Given the description of an element on the screen output the (x, y) to click on. 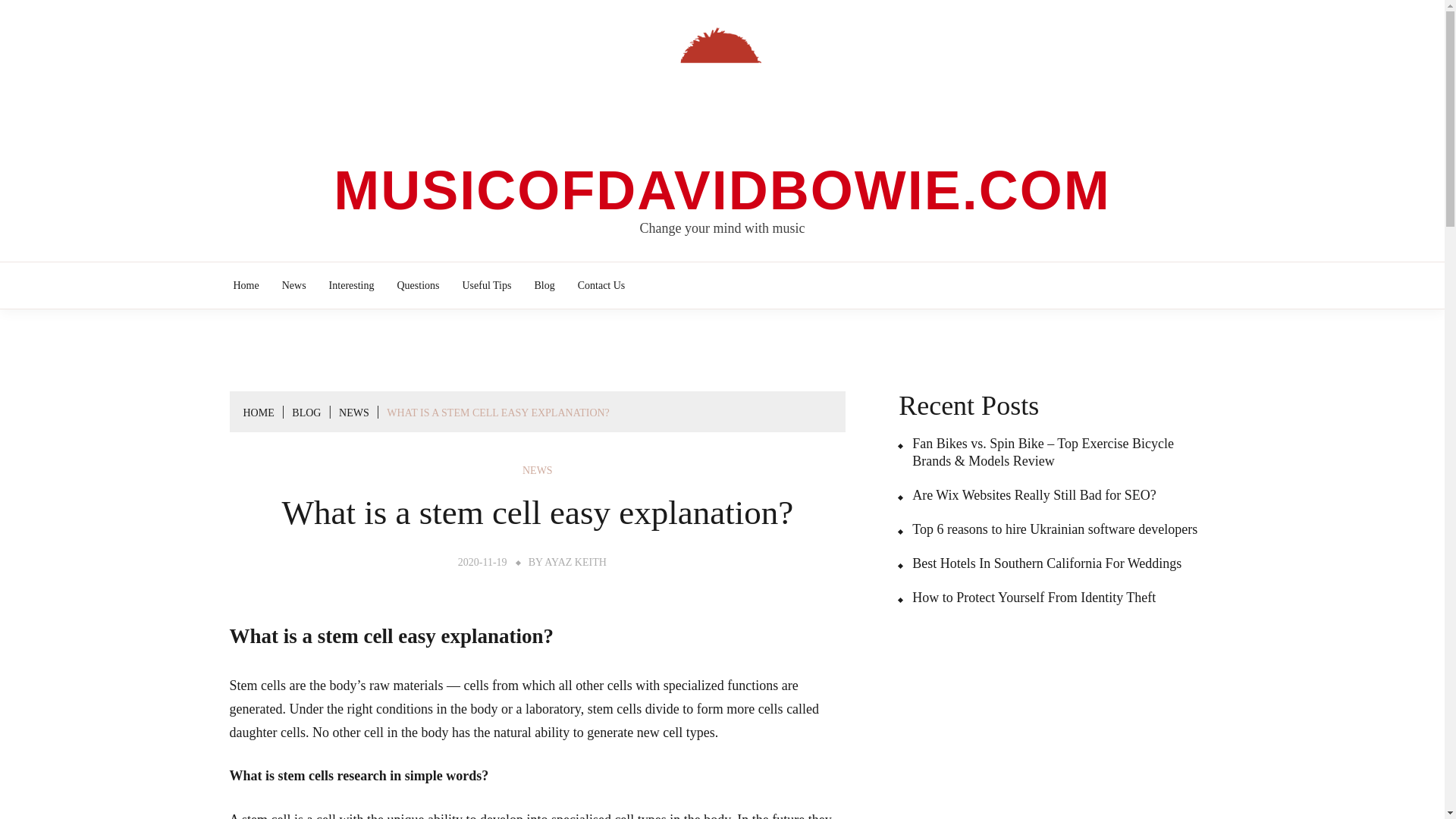
Interesting (351, 285)
2020-11-19 (482, 562)
Top 6 reasons to hire Ukrainian software developers (1047, 529)
NEWS (537, 470)
WHAT IS A STEM CELL EASY EXPLANATION? (497, 412)
Contact Us (600, 285)
BLOG (306, 412)
Best Hotels In Southern California For Weddings (1039, 563)
MUSICOFDAVIDBOWIE.COM (721, 189)
Are Wix Websites Really Still Bad for SEO? (1027, 495)
NEWS (354, 412)
Questions (417, 285)
How to Protect Yourself From Identity Theft (1027, 597)
HOME (258, 412)
Useful Tips (486, 285)
